Given the description of an element on the screen output the (x, y) to click on. 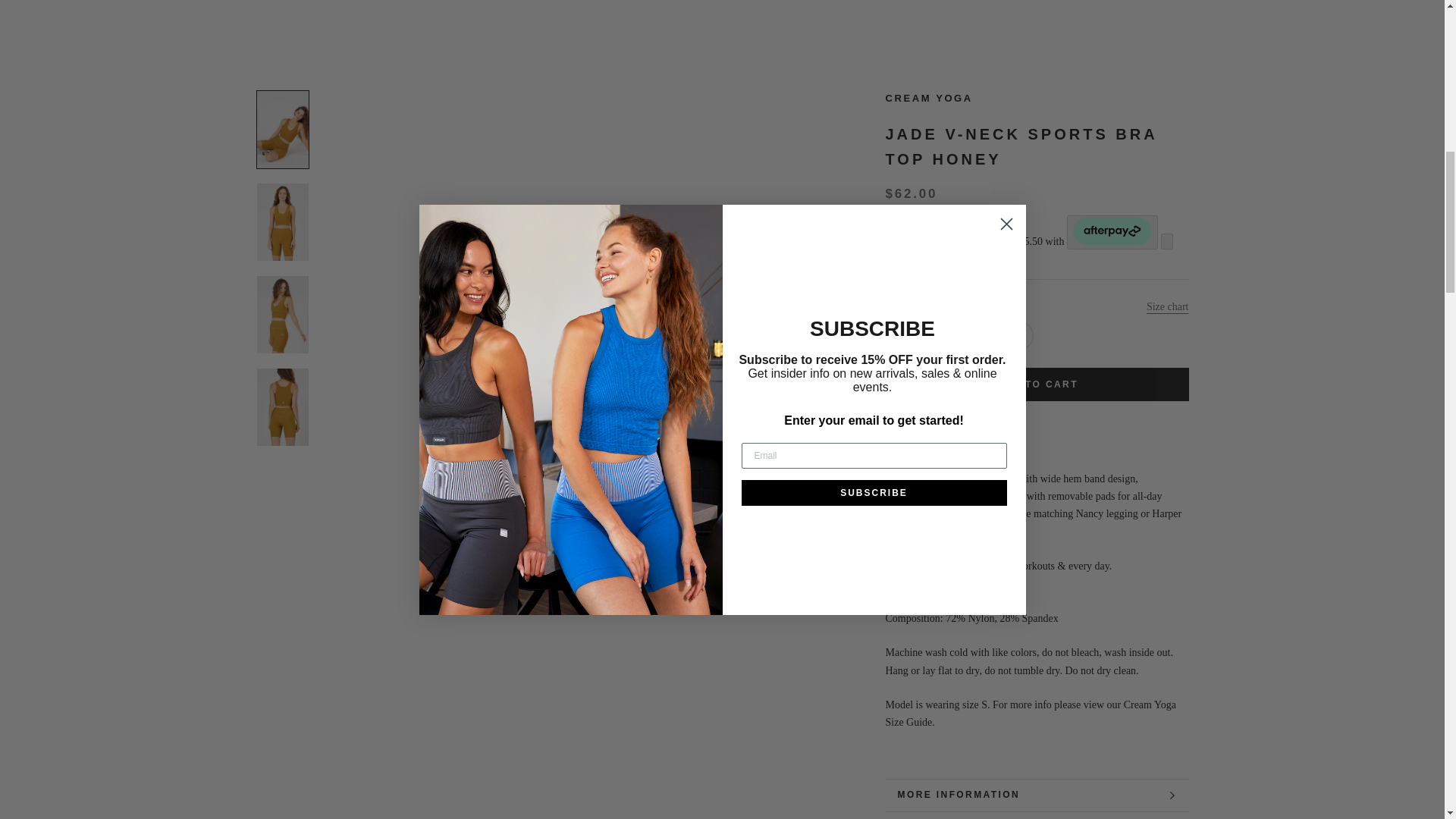
Page 1 (1037, 7)
